Given the description of an element on the screen output the (x, y) to click on. 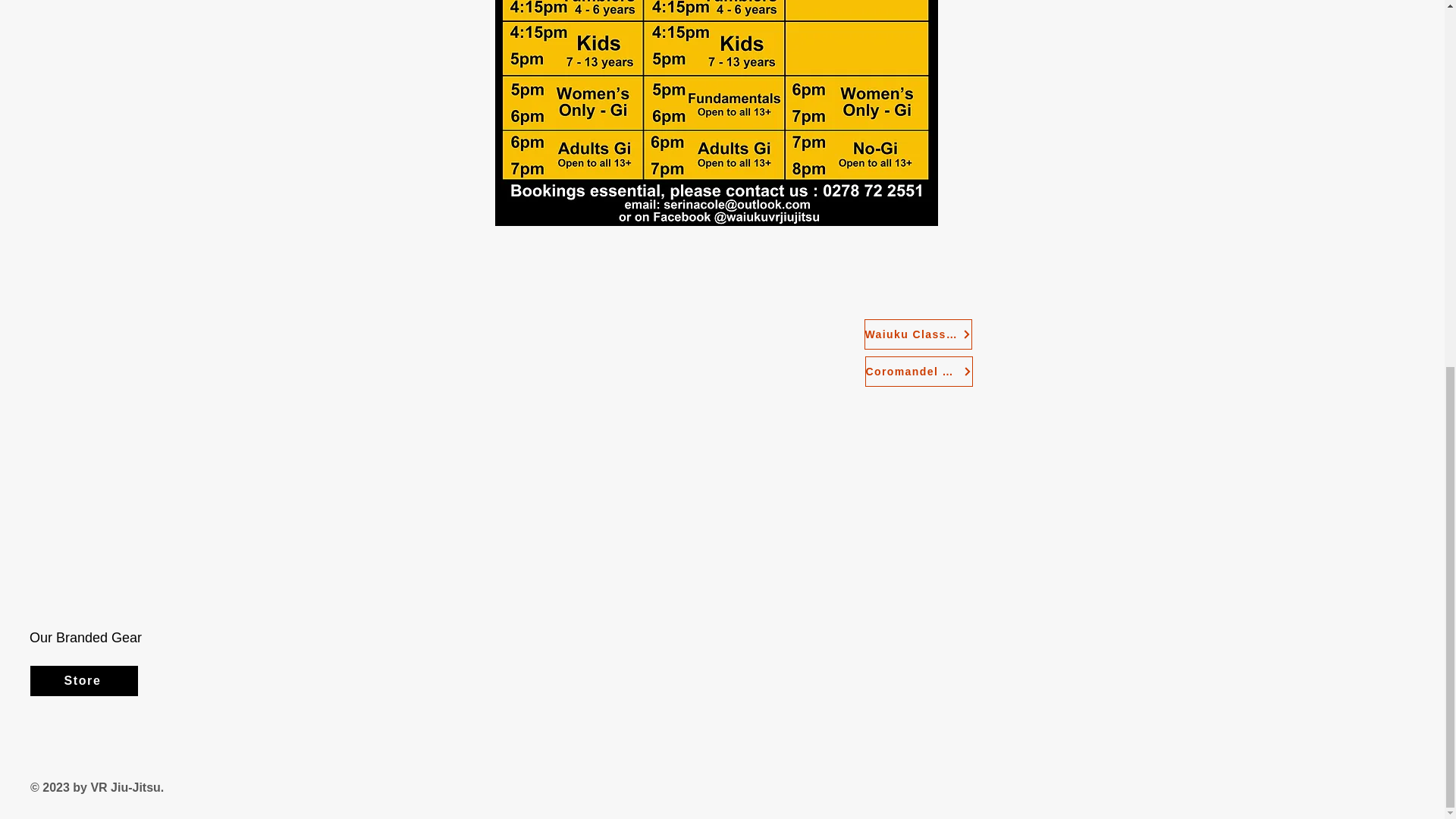
Store (84, 680)
Waiuku Classes (918, 334)
Click for a larger view (716, 113)
Coromandel Classes (918, 371)
